Given the description of an element on the screen output the (x, y) to click on. 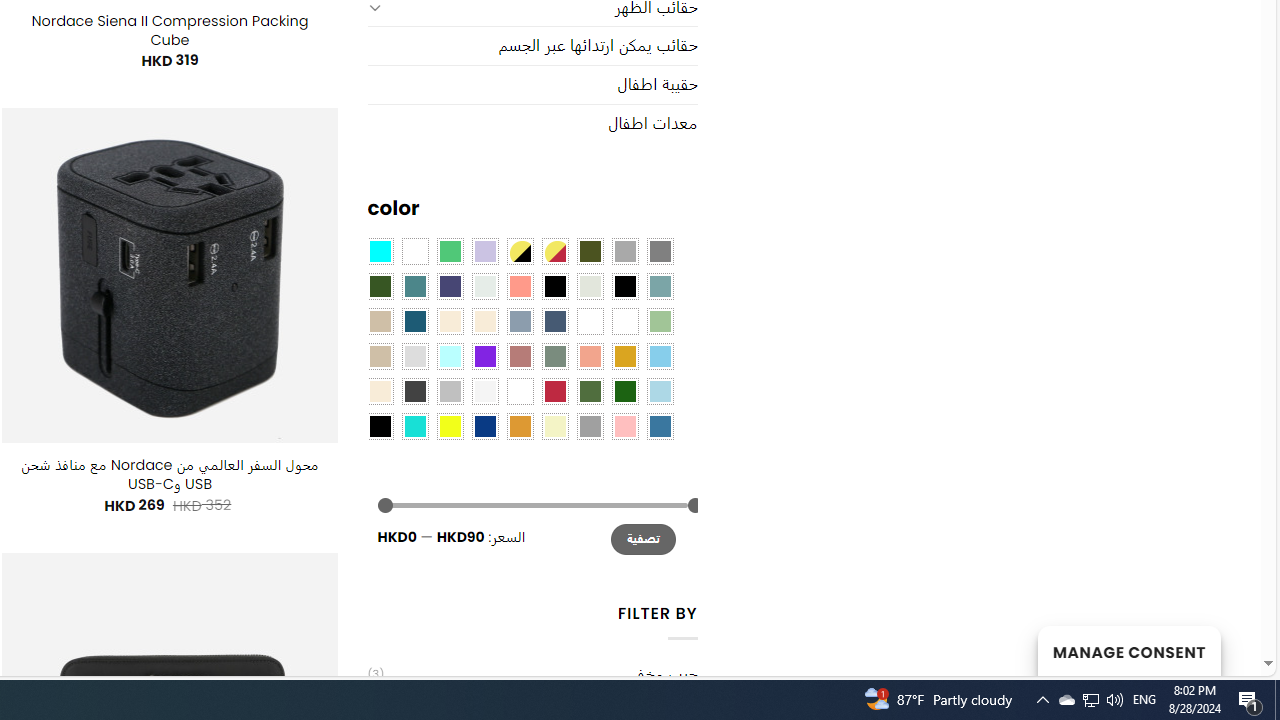
Light Green (659, 321)
MANAGE CONSENT (1128, 650)
Aqua Blue (379, 251)
Sage (554, 355)
Blue Sage (659, 285)
Caramel (449, 321)
